Given the description of an element on the screen output the (x, y) to click on. 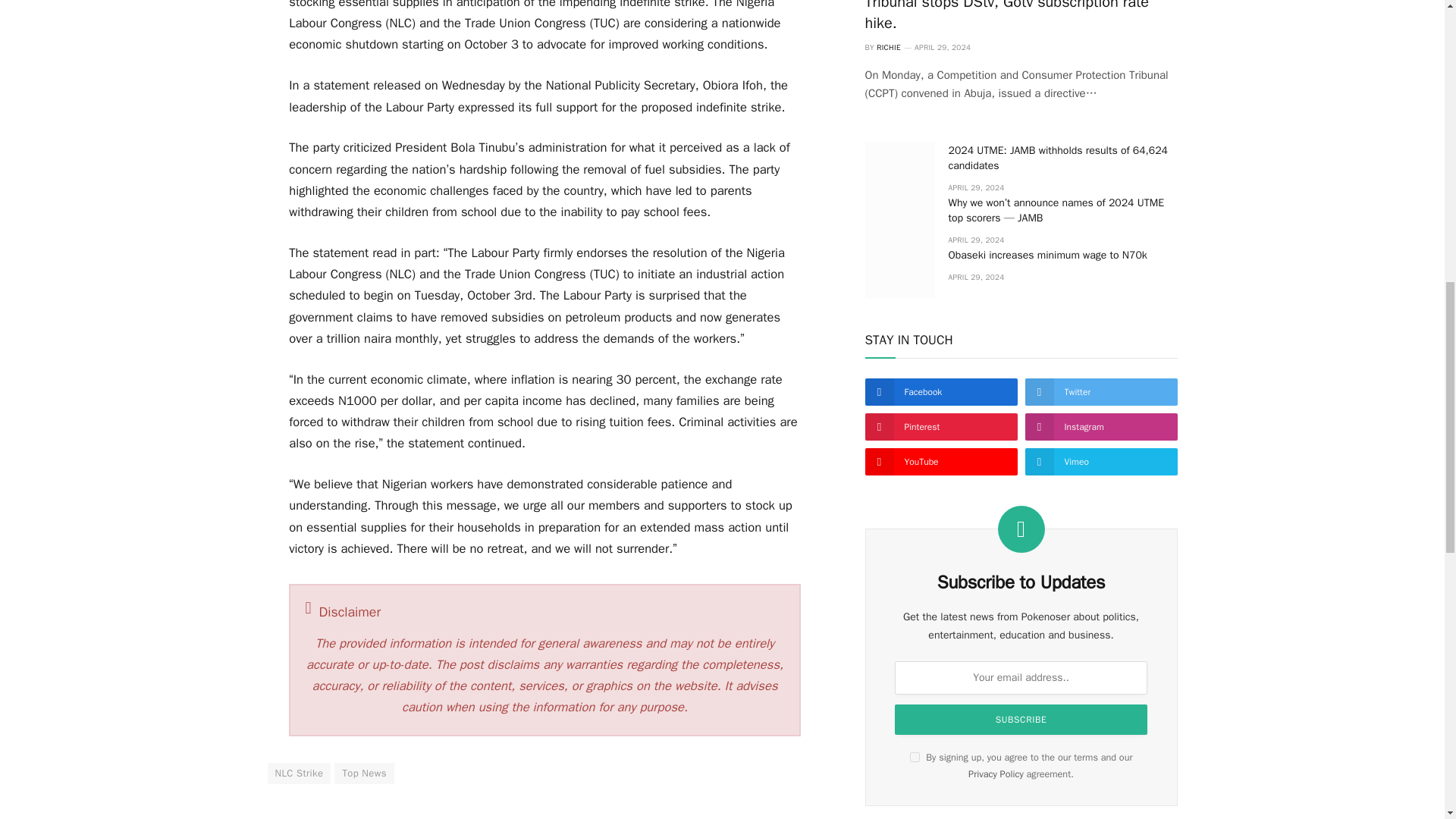
on (915, 757)
Subscribe (1021, 719)
